Given the description of an element on the screen output the (x, y) to click on. 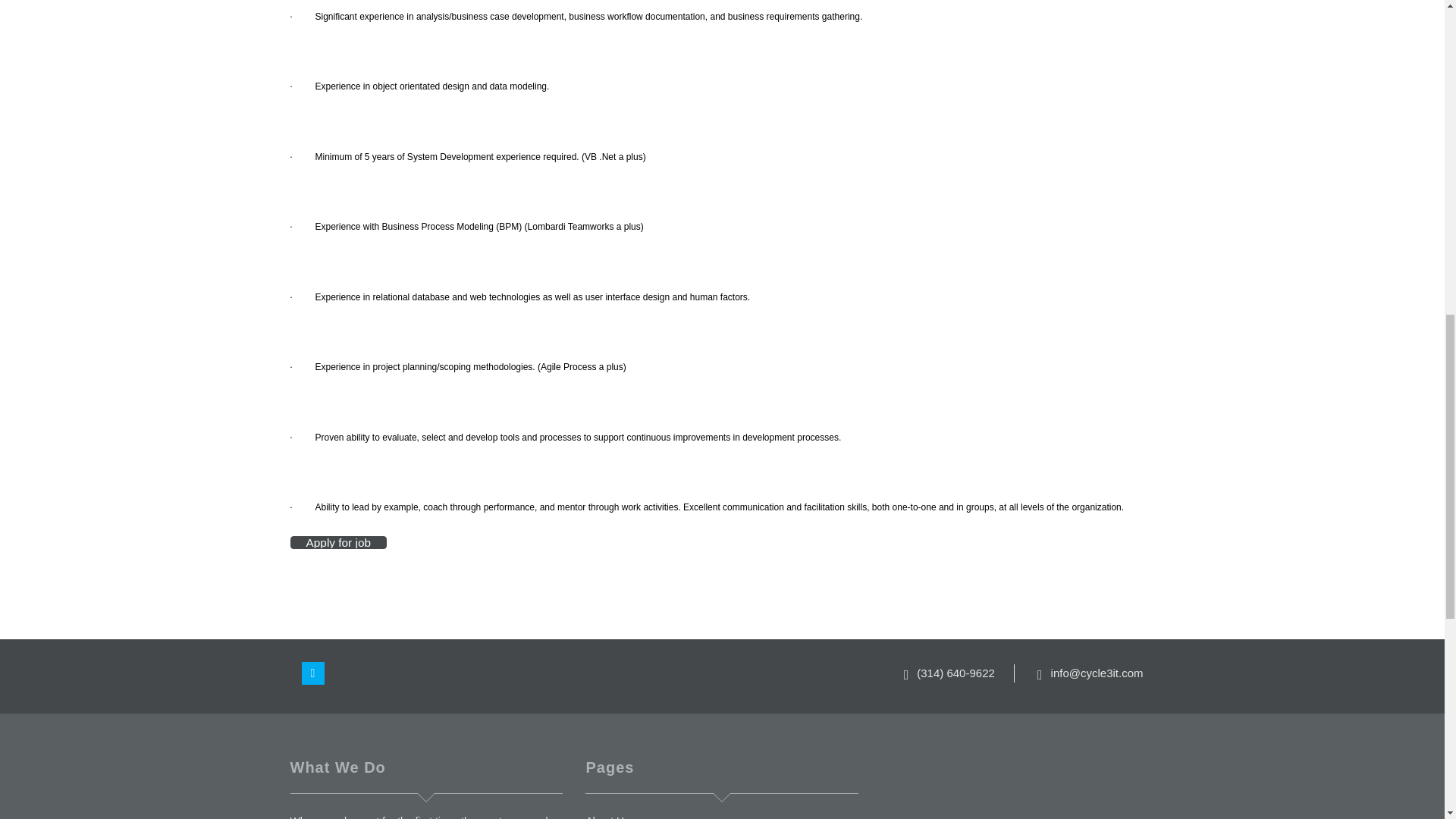
Apply for job (338, 542)
About Us (606, 816)
